Given the description of an element on the screen output the (x, y) to click on. 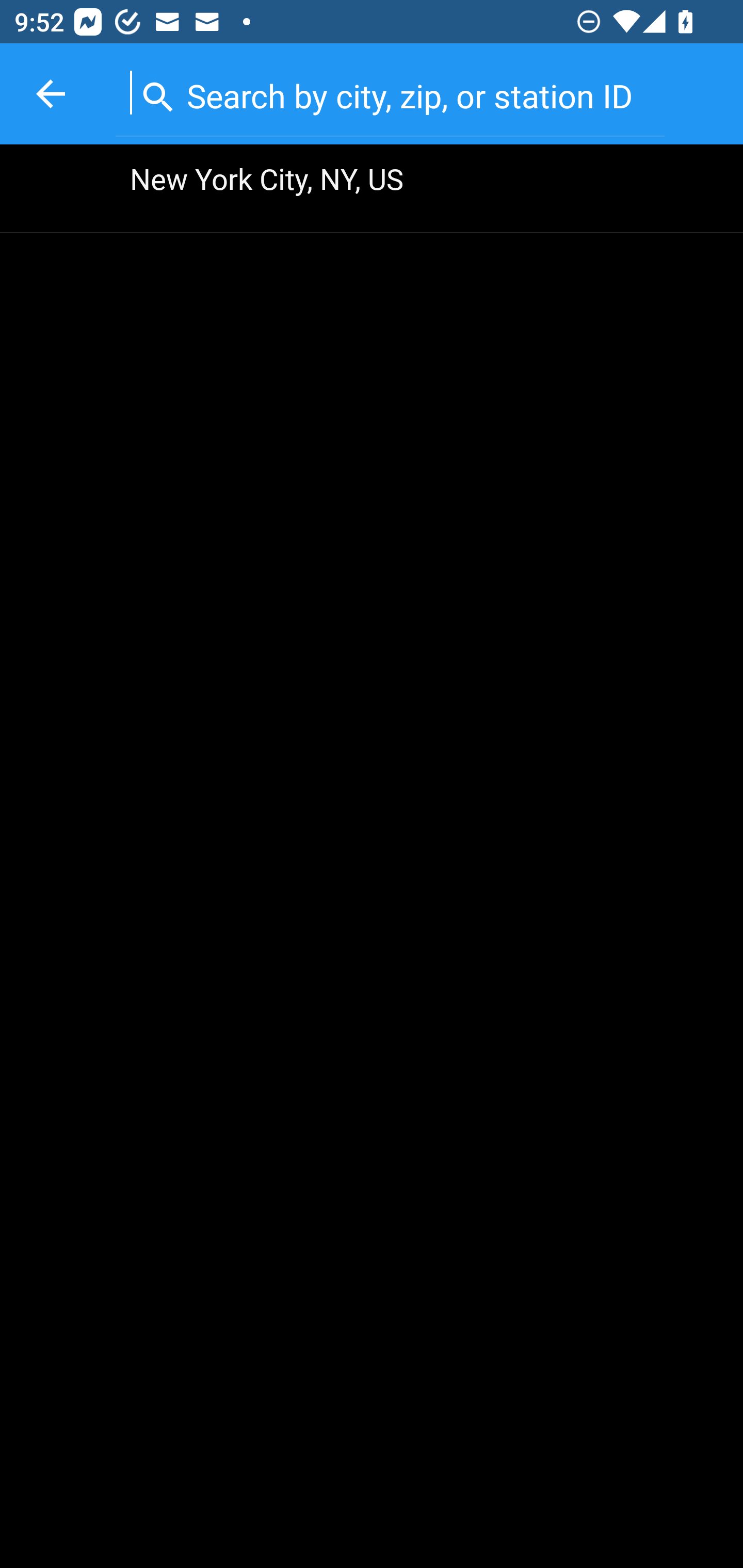
back (50, 93)
   Search by city, zip, or station ID (389, 92)
New York City, NY, US (371, 188)
